Given the description of an element on the screen output the (x, y) to click on. 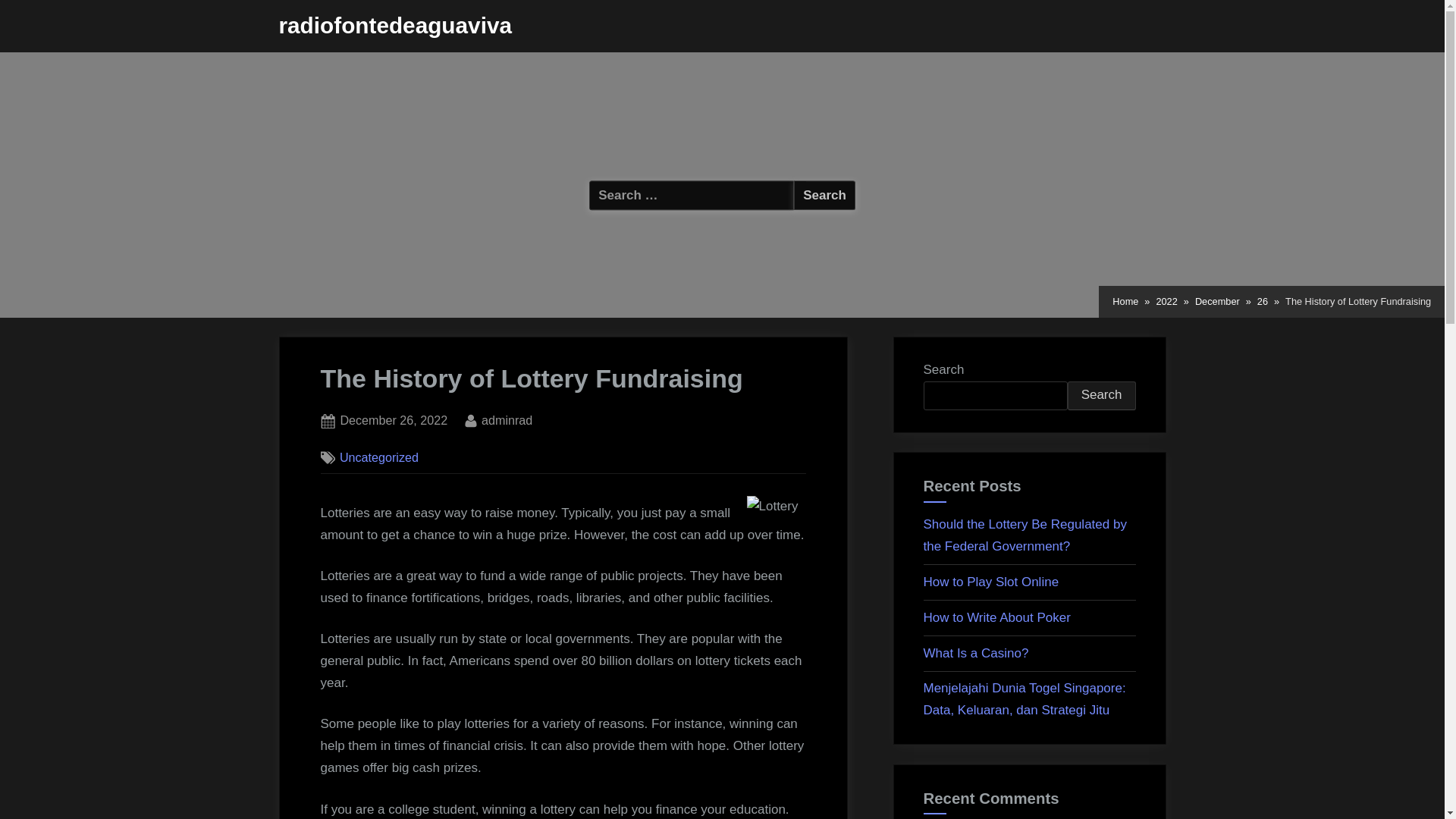
Should the Lottery Be Regulated by the Federal Government? (1024, 534)
What Is a Casino? (976, 653)
December (1217, 301)
Search (1101, 395)
2022 (1166, 301)
Search (824, 194)
Search (824, 194)
Home (1125, 301)
How to Play Slot Online (991, 581)
radiofontedeaguaviva (395, 25)
